Given the description of an element on the screen output the (x, y) to click on. 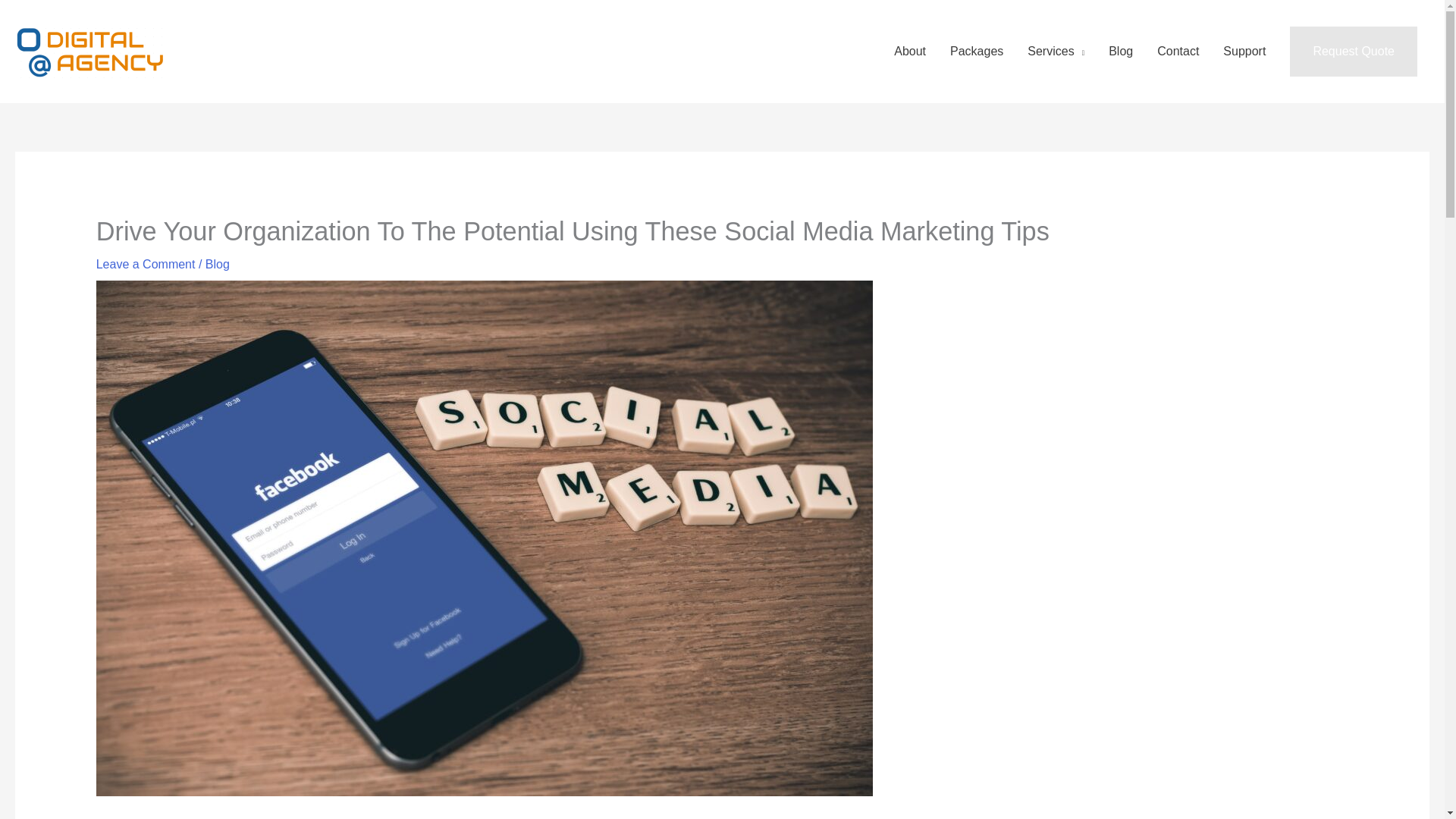
Request Quote (1353, 51)
Contact (1177, 51)
About (909, 51)
Support (1244, 51)
Packages (975, 51)
Blog (1120, 51)
Blog (217, 264)
Leave a Comment (145, 264)
Services (1055, 51)
